Given the description of an element on the screen output the (x, y) to click on. 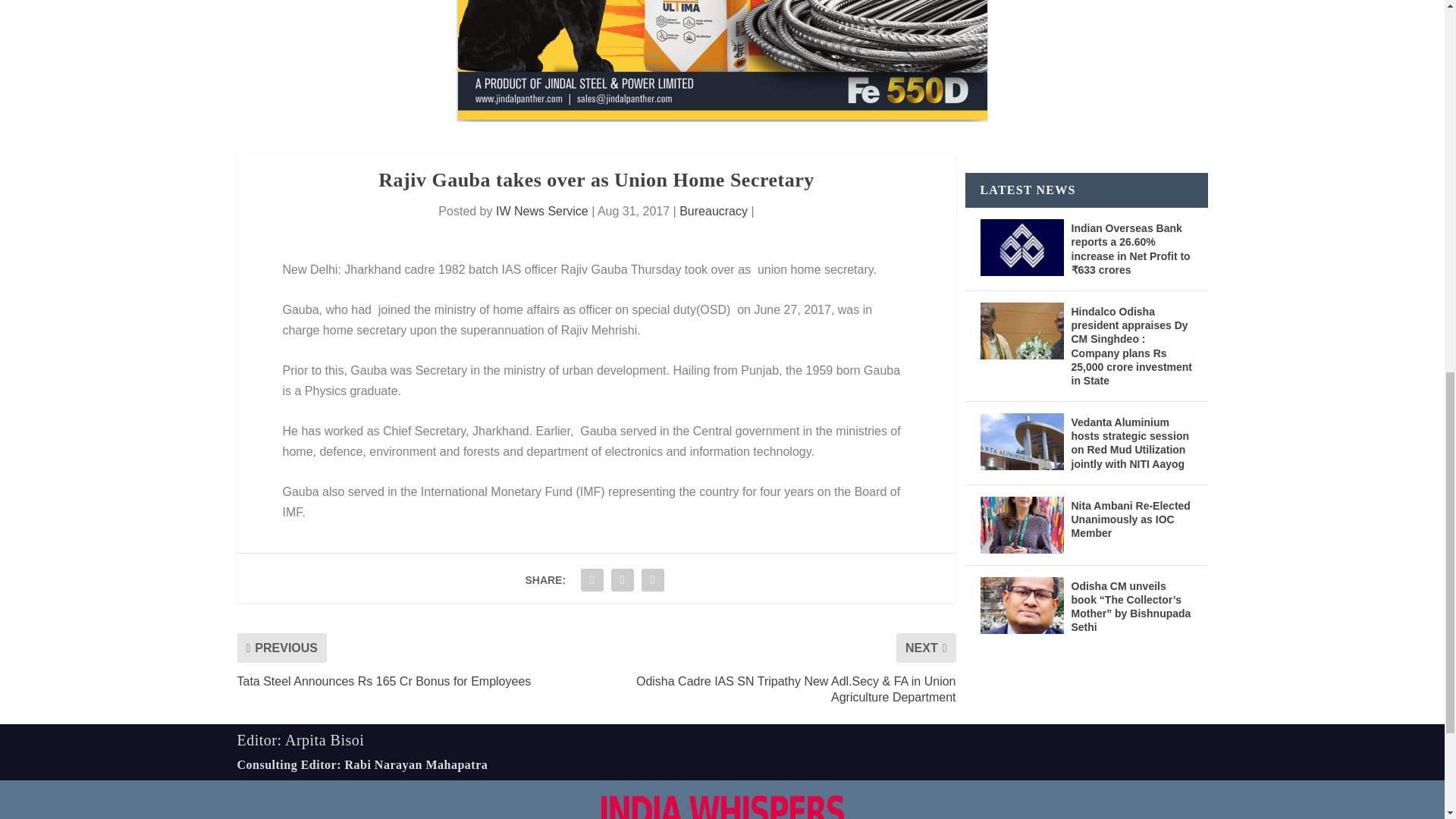
Posts by IW News Service (542, 210)
